Given the description of an element on the screen output the (x, y) to click on. 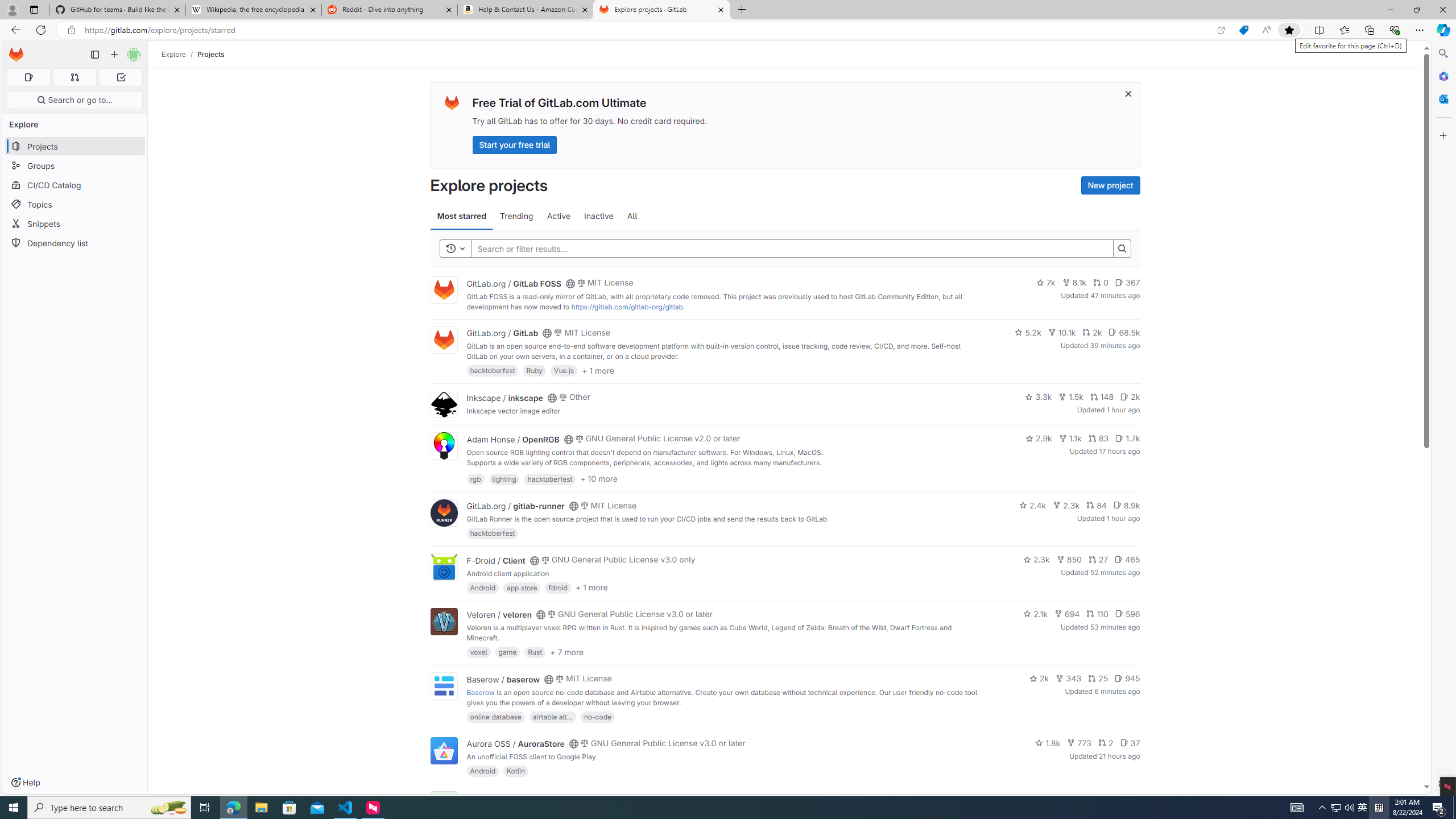
CI/CD Catalog (74, 185)
84 (1096, 504)
no-code (597, 715)
Explore/ (179, 53)
Adam Honse / OpenRGB (512, 438)
Baserow (480, 691)
1.8k (1048, 742)
+ 10 more (599, 478)
rgb (475, 478)
